Given the description of an element on the screen output the (x, y) to click on. 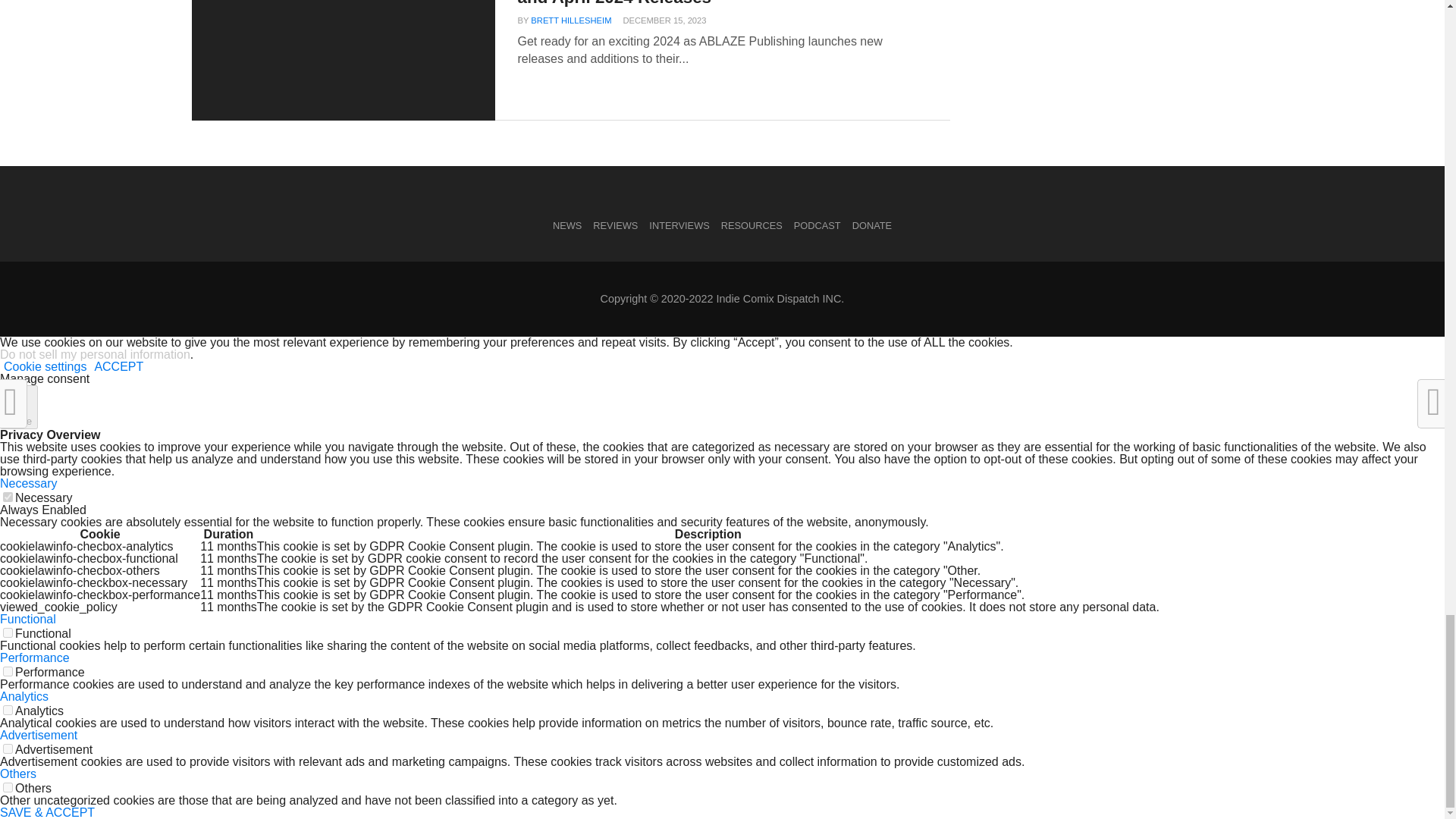
on (7, 748)
on (7, 671)
on (7, 709)
on (7, 633)
on (7, 787)
on (7, 497)
